Given the description of an element on the screen output the (x, y) to click on. 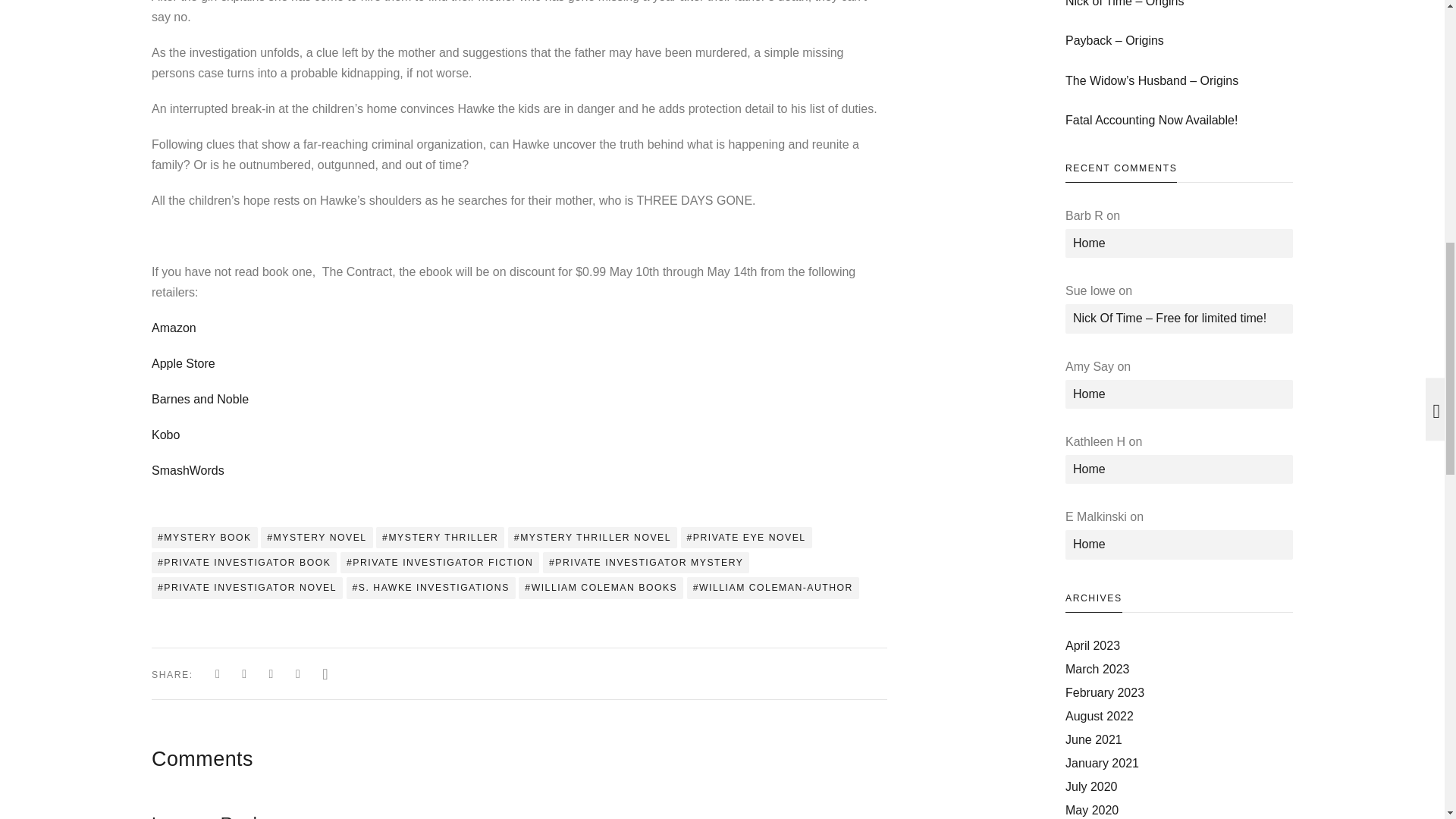
Barnes and Noble (199, 399)
S. HAWKE INVESTIGATIONS (430, 587)
PRIVATE INVESTIGATOR MYSTERY (646, 562)
MYSTERY THRILLER NOVEL (592, 537)
Apple Store (183, 363)
Kobo (165, 434)
MYSTERY NOVEL (316, 537)
MYSTERY BOOK (204, 537)
MYSTERY THRILLER (439, 537)
WILLIAM COLEMAN-AUTHOR (773, 587)
PRIVATE INVESTIGATOR BOOK (243, 562)
PRIVATE INVESTIGATOR NOVEL (246, 587)
Amazon (173, 327)
PRIVATE INVESTIGATOR FICTION (440, 562)
SmashWords (187, 470)
